Given the description of an element on the screen output the (x, y) to click on. 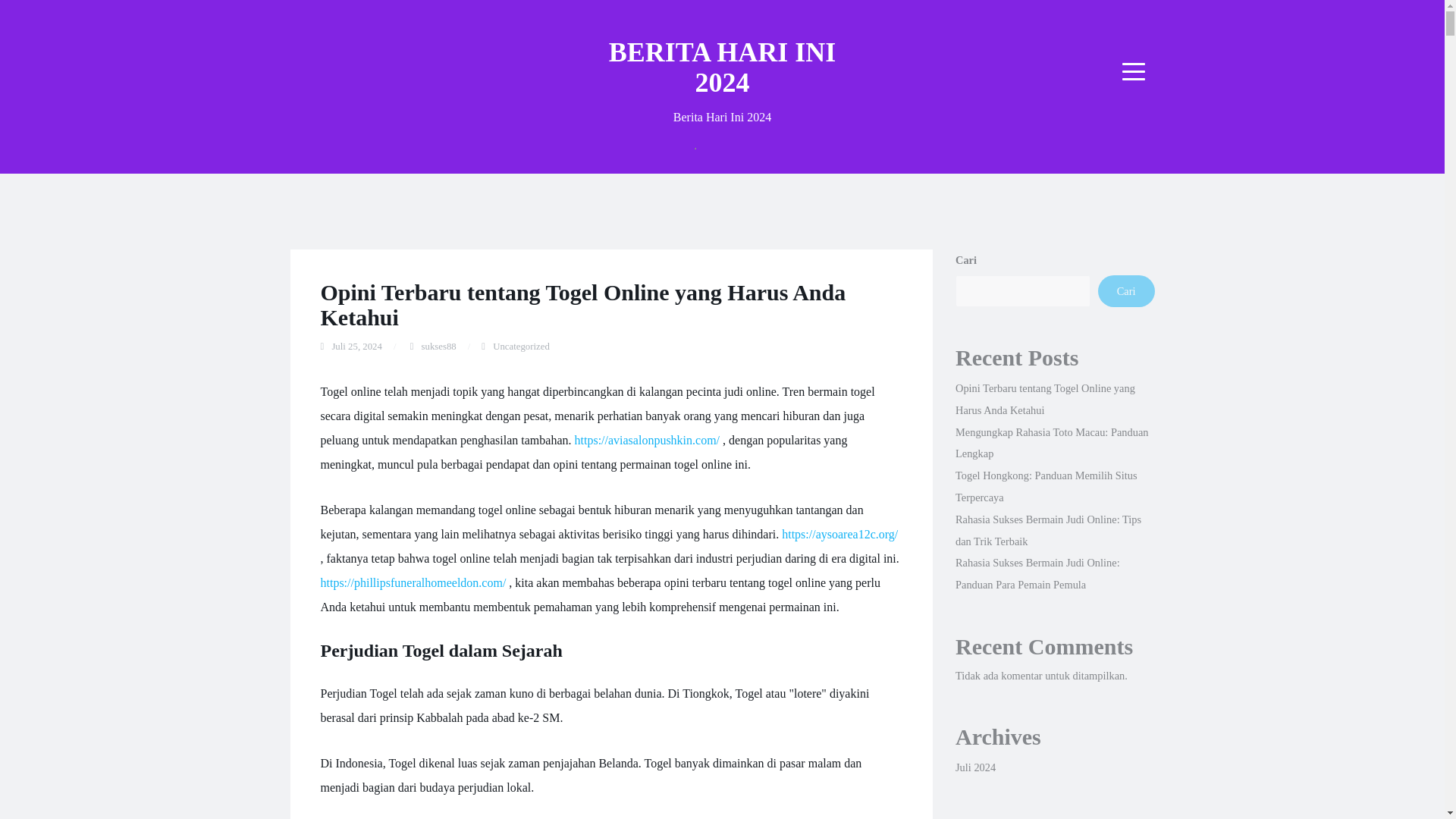
Uncategorized (521, 346)
Juli 25, 2024 (356, 346)
Opini Terbaru tentang Togel Online yang Harus Anda Ketahui (582, 305)
Menu (1133, 71)
BERITA HARI INI 2024 (721, 66)
sukses88 (439, 346)
